Given the description of an element on the screen output the (x, y) to click on. 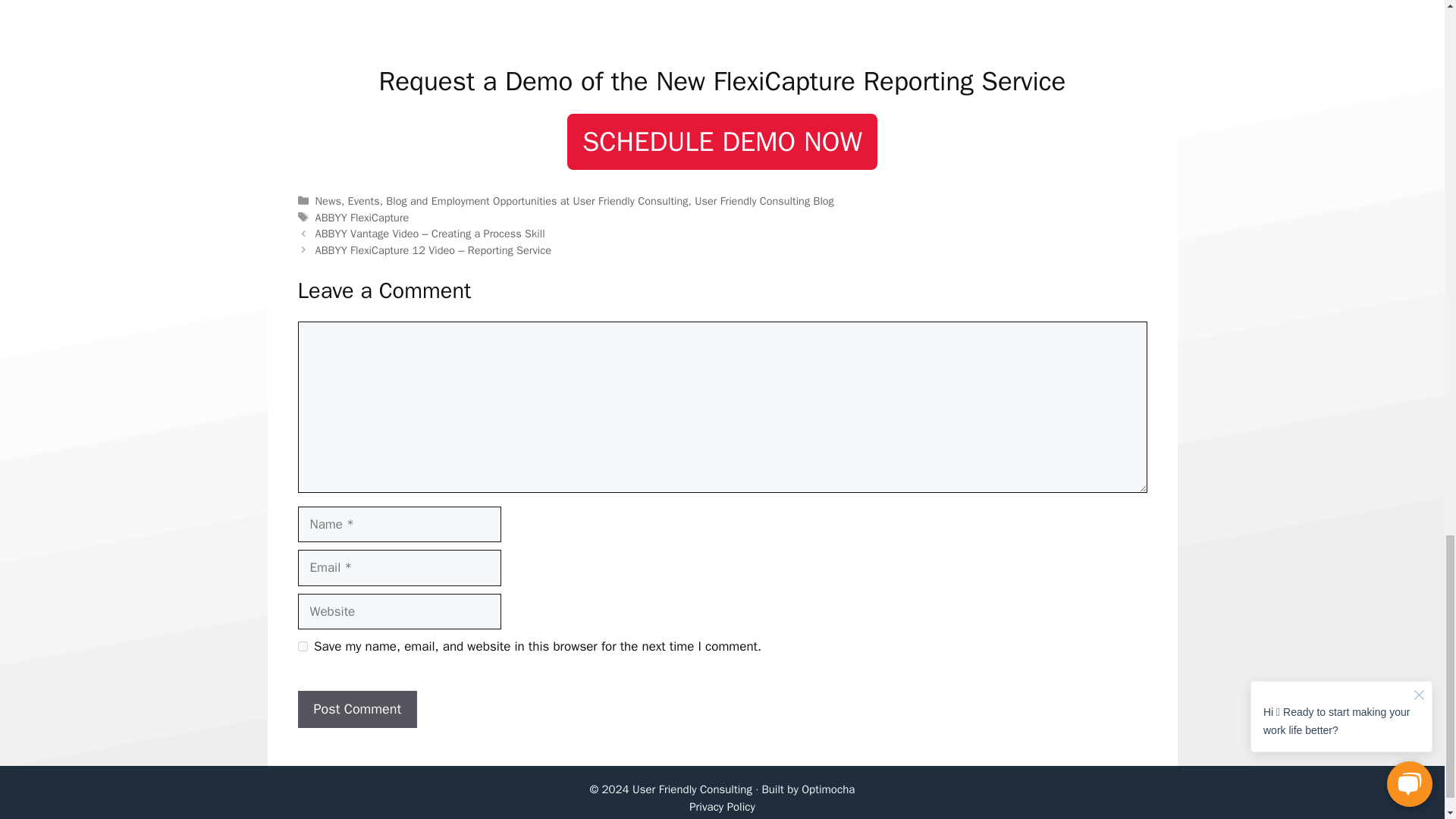
yes (302, 646)
Post Comment (356, 709)
ABBYY FlexiCapture 12 - Reporting Service (722, 22)
